Given the description of an element on the screen output the (x, y) to click on. 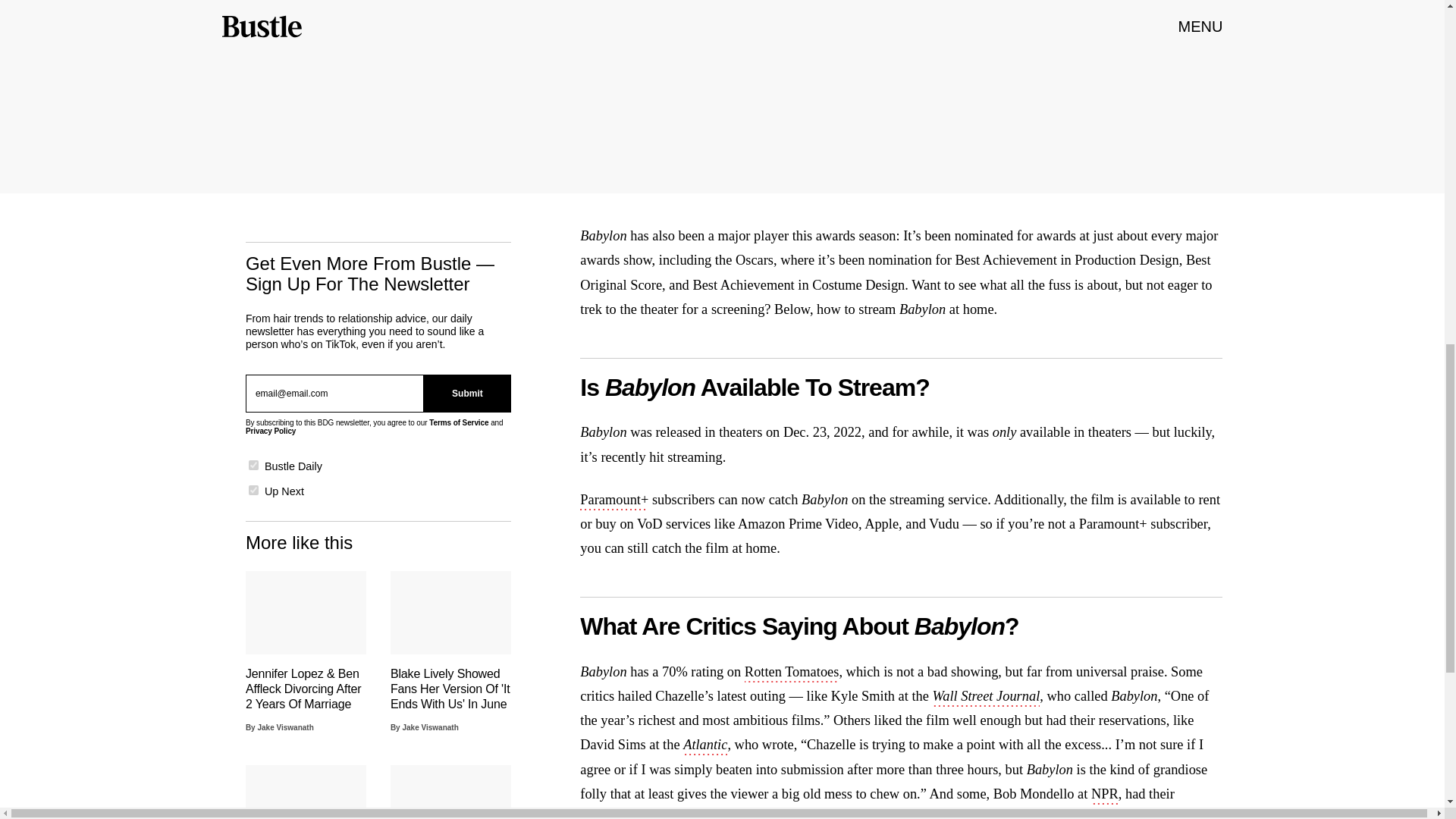
NPR (1104, 795)
Atlantic (704, 746)
Terms of Service (458, 422)
Submit (467, 393)
Rotten Tomatoes (792, 673)
Wall Street Journal (987, 697)
Did 'The Giver' Destroy the YA Movie Trend? (306, 791)
Privacy Policy (270, 430)
